Given the description of an element on the screen output the (x, y) to click on. 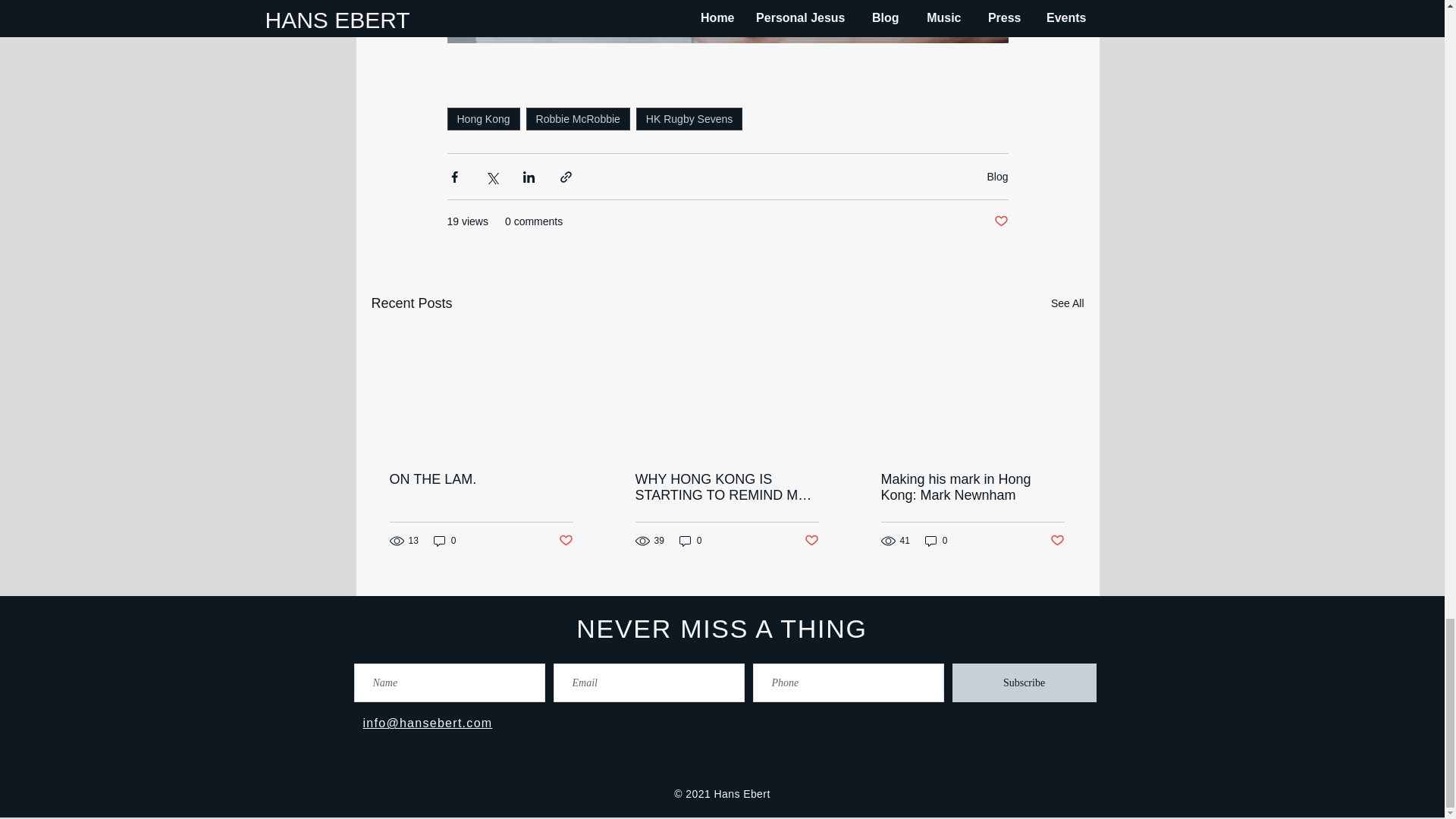
See All (1067, 303)
Blog (997, 176)
HK Rugby Sevens (689, 118)
Post not marked as liked (999, 221)
Robbie McRobbie (577, 118)
0 (445, 540)
ON THE LAM. (481, 479)
Hong Kong (482, 118)
